Given the description of an element on the screen output the (x, y) to click on. 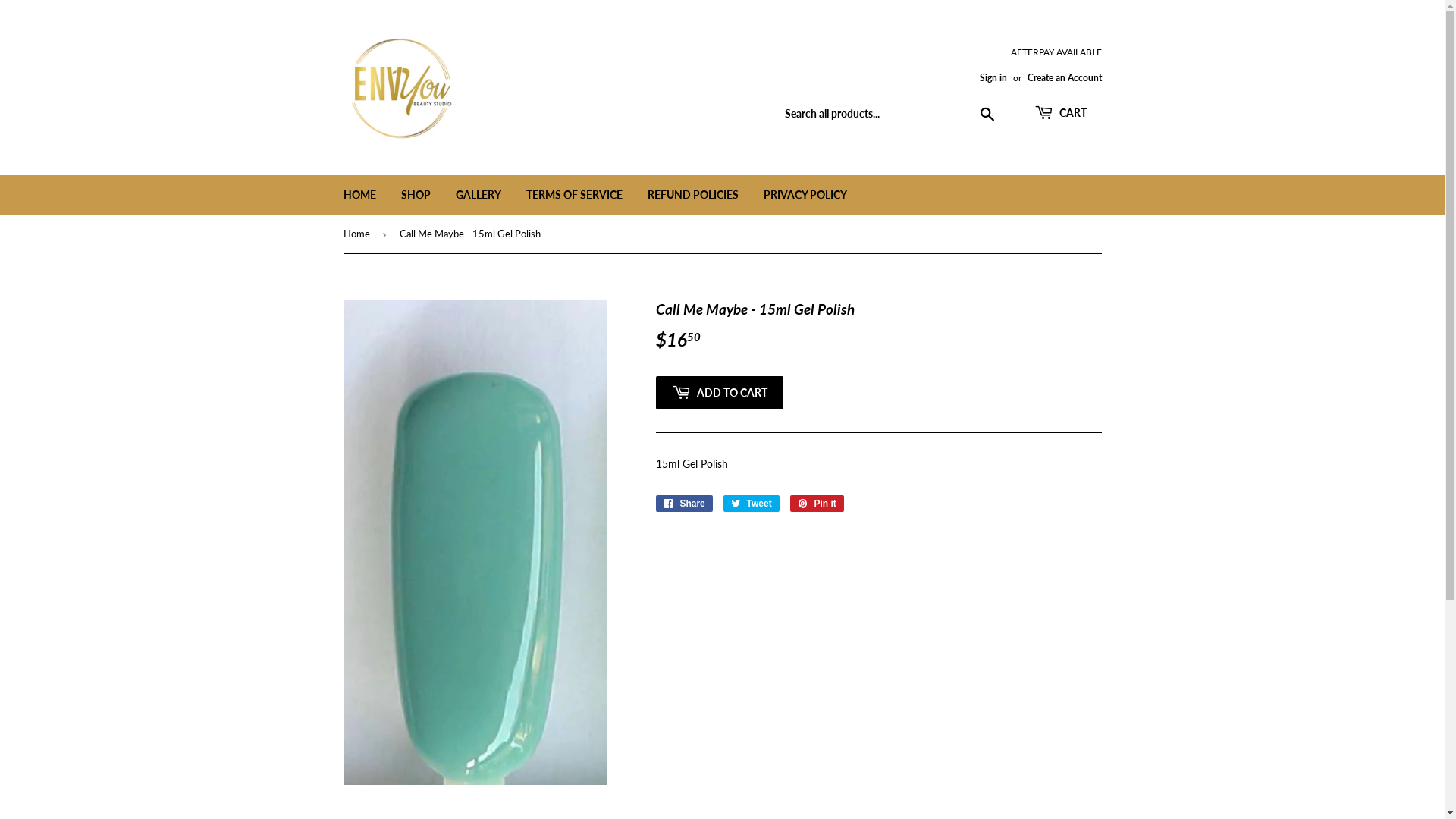
ADD TO CART Element type: text (718, 392)
Share
Share on Facebook Element type: text (683, 503)
Create an Account Element type: text (1063, 77)
Pin it
Pin on Pinterest Element type: text (817, 503)
GALLERY Element type: text (478, 194)
Tweet
Tweet on Twitter Element type: text (751, 503)
REFUND POLICIES Element type: text (692, 194)
TERMS OF SERVICE Element type: text (573, 194)
PRIVACY POLICY Element type: text (805, 194)
Search Element type: text (987, 114)
Home Element type: text (358, 233)
HOME Element type: text (359, 194)
Sign in Element type: text (993, 77)
SHOP Element type: text (415, 194)
CART Element type: text (1060, 113)
